Given the description of an element on the screen output the (x, y) to click on. 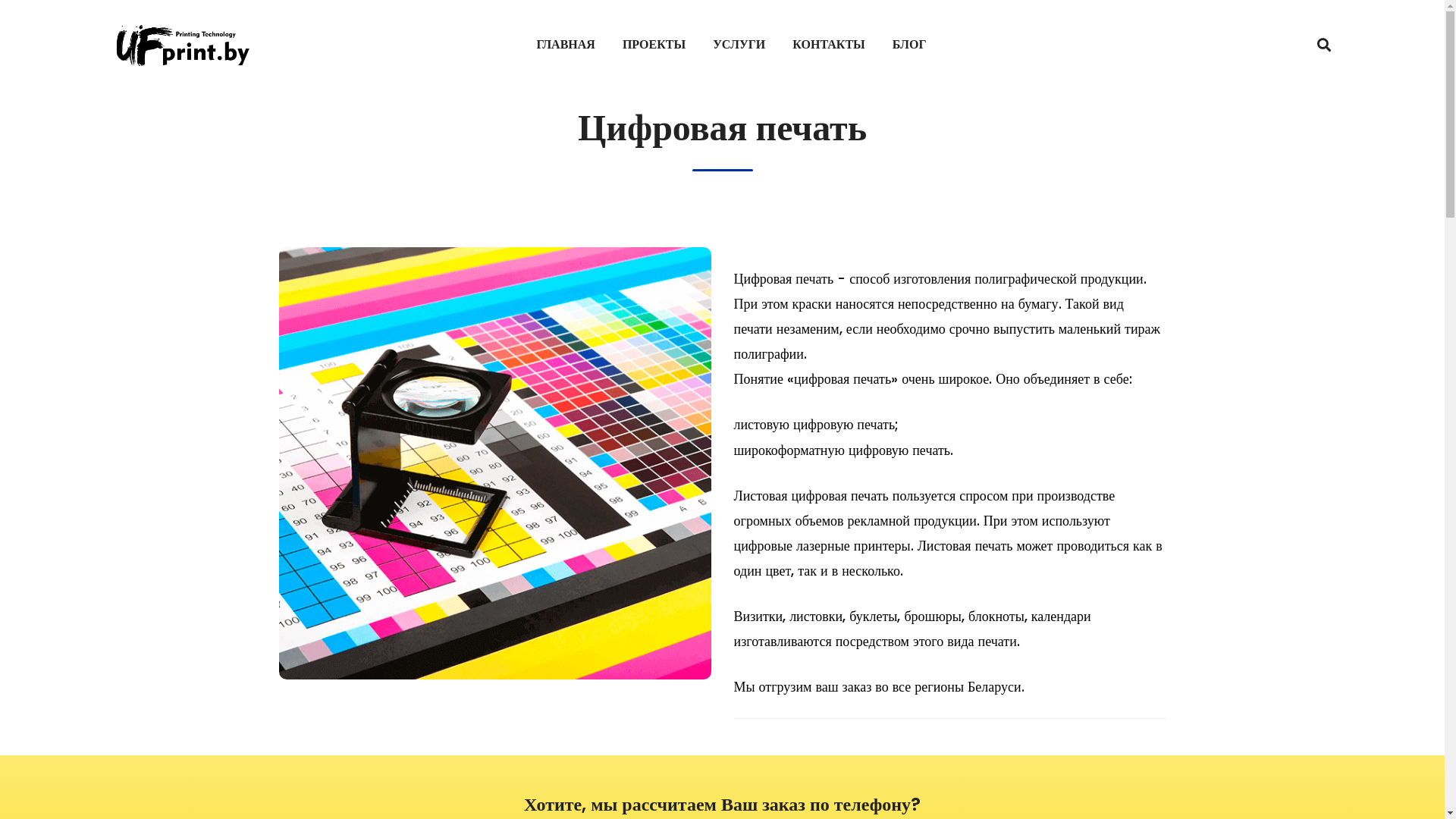
__replain_widget_iframe Element type: hover (1402, 776)
